Given the description of an element on the screen output the (x, y) to click on. 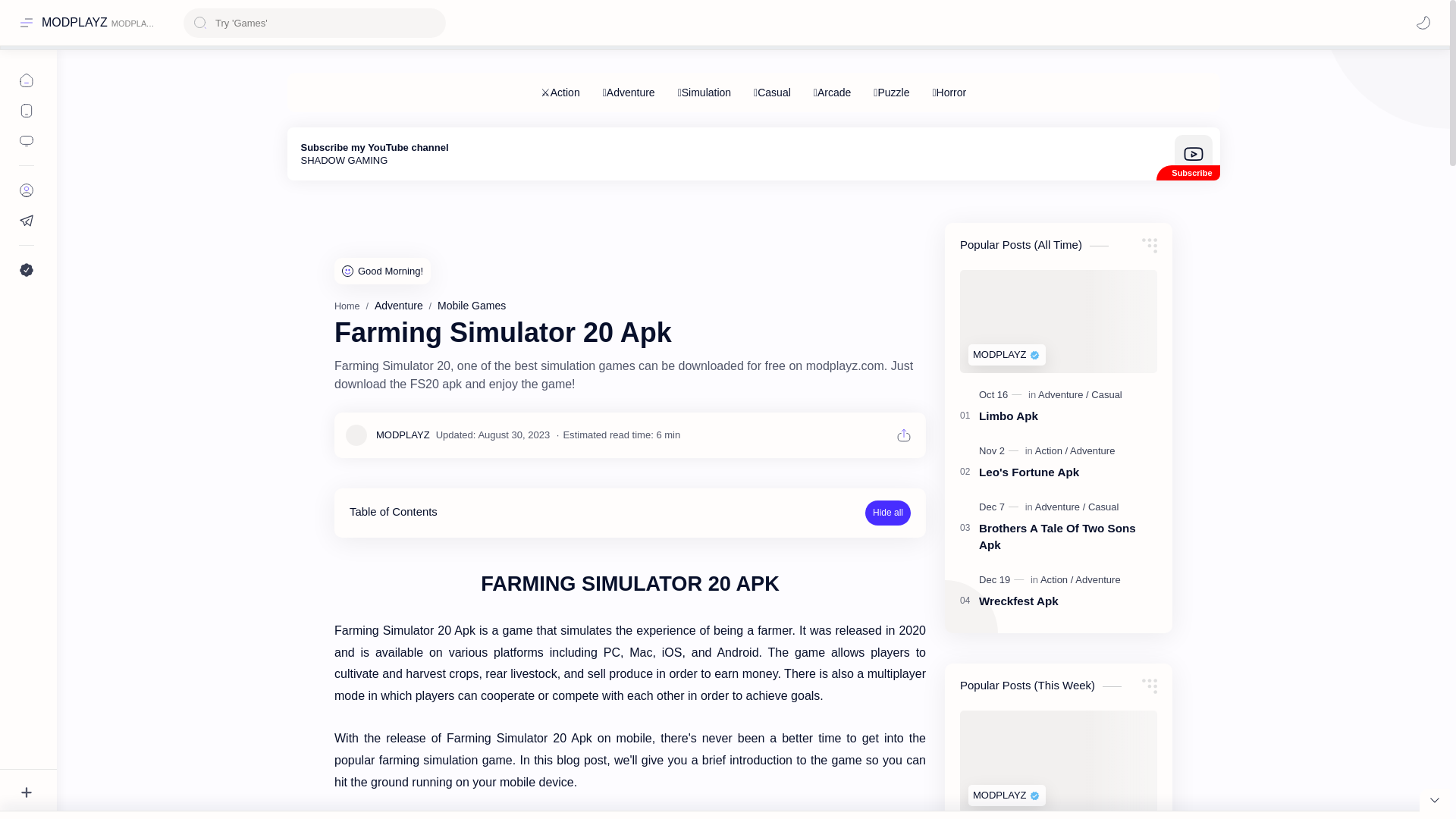
Published: October 16, 2022 (1001, 395)
Adventure (398, 305)
Last updated: August 30, 2023 (492, 434)
Published: November 2, 2022 (1000, 450)
Home (346, 306)
Published: December 7, 2022 (1000, 507)
MODPLAYZ (753, 153)
Published: December 19, 2022 (74, 22)
